Given the description of an element on the screen output the (x, y) to click on. 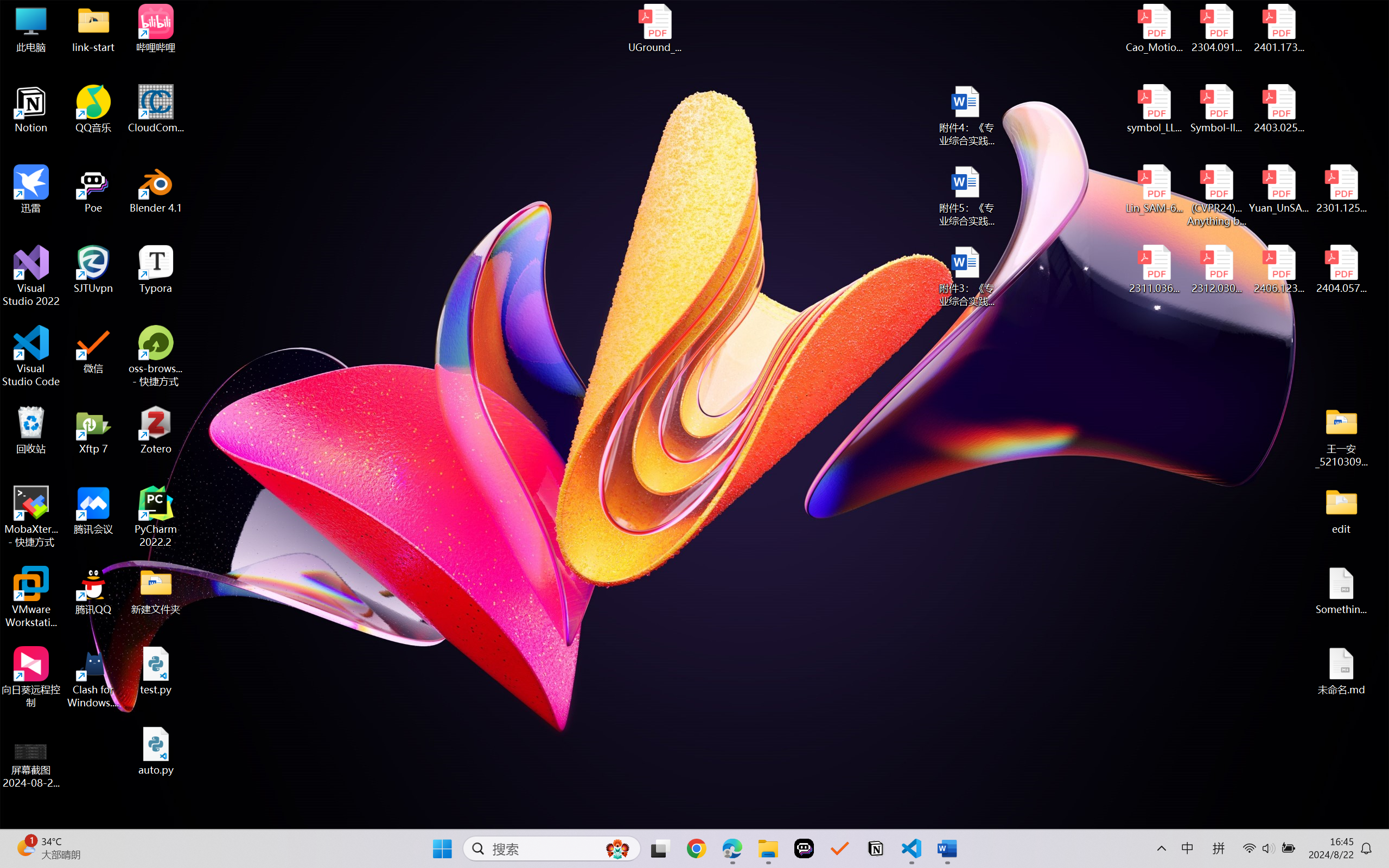
Typora (156, 269)
edit (1340, 510)
2304.09121v3.pdf (1216, 28)
2406.12373v2.pdf (1278, 269)
auto.py (156, 751)
Google Chrome (696, 848)
